Given the description of an element on the screen output the (x, y) to click on. 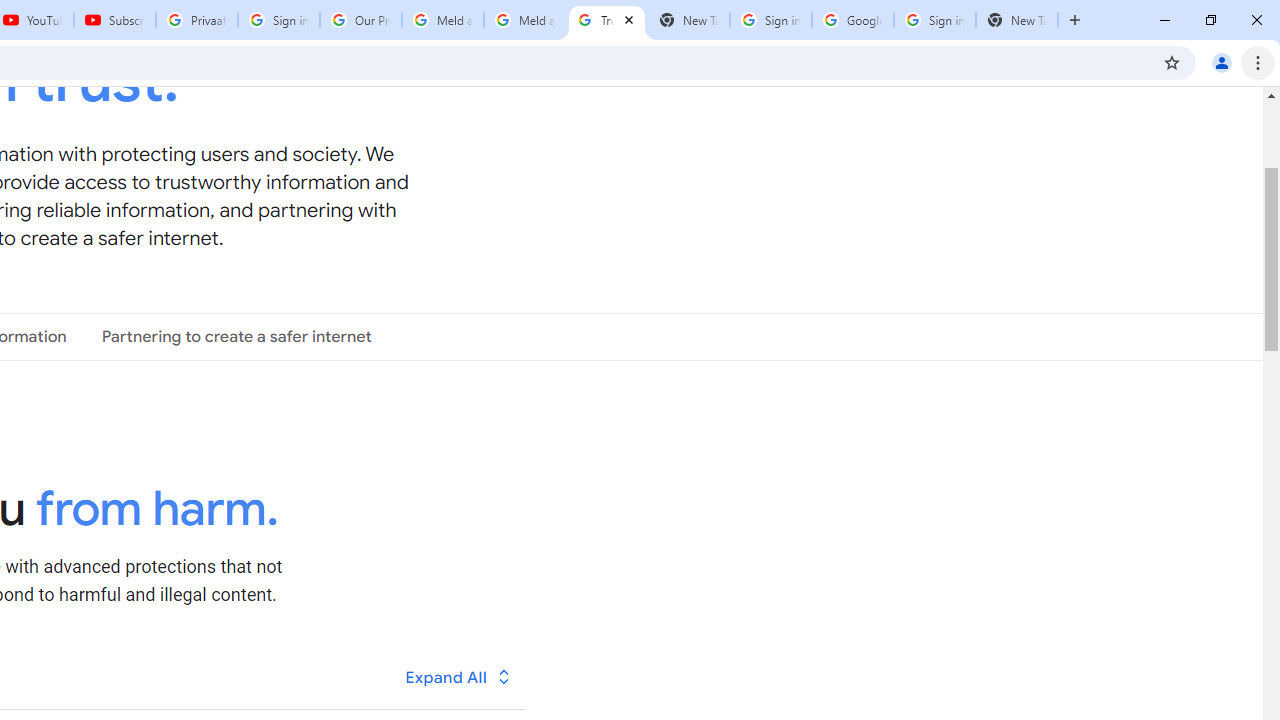
Trusted Information and Content - Google Safety Center (606, 20)
Google Cybersecurity Innovations - Google Safety Center (852, 20)
New Tab (1016, 20)
Expand All (459, 677)
Subscriptions - YouTube (115, 20)
Sign in - Google Accounts (934, 20)
